Given the description of an element on the screen output the (x, y) to click on. 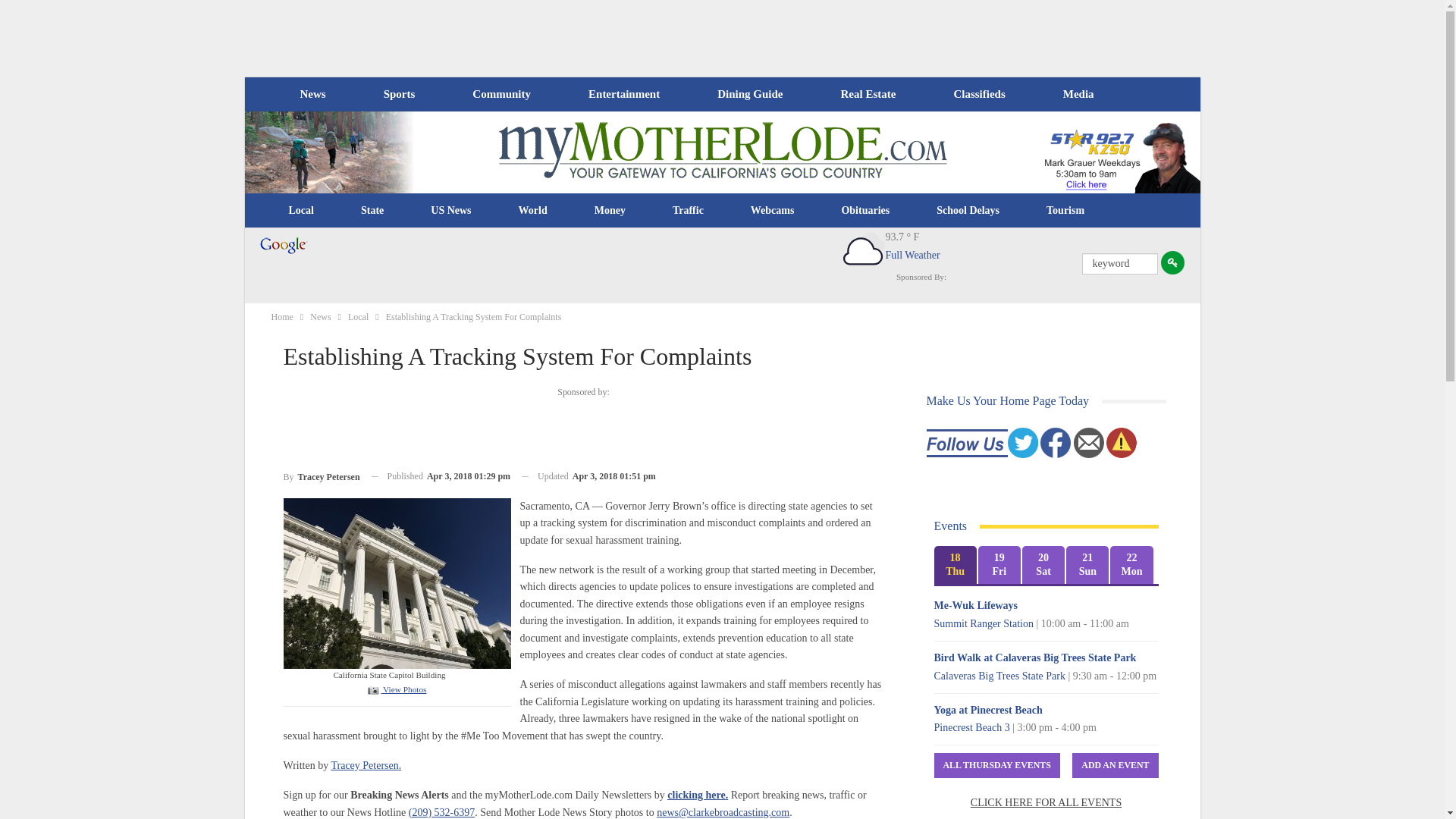
School Delays (967, 210)
Obituaries (865, 210)
News (312, 93)
Entertainment (624, 93)
Community (501, 93)
Establishing A Tracking System For Complaints (396, 688)
Local (300, 210)
Photo by: BJ Hansen (397, 582)
Add An Event (1114, 765)
Media (1078, 93)
All Thursday Events (996, 765)
